Given the description of an element on the screen output the (x, y) to click on. 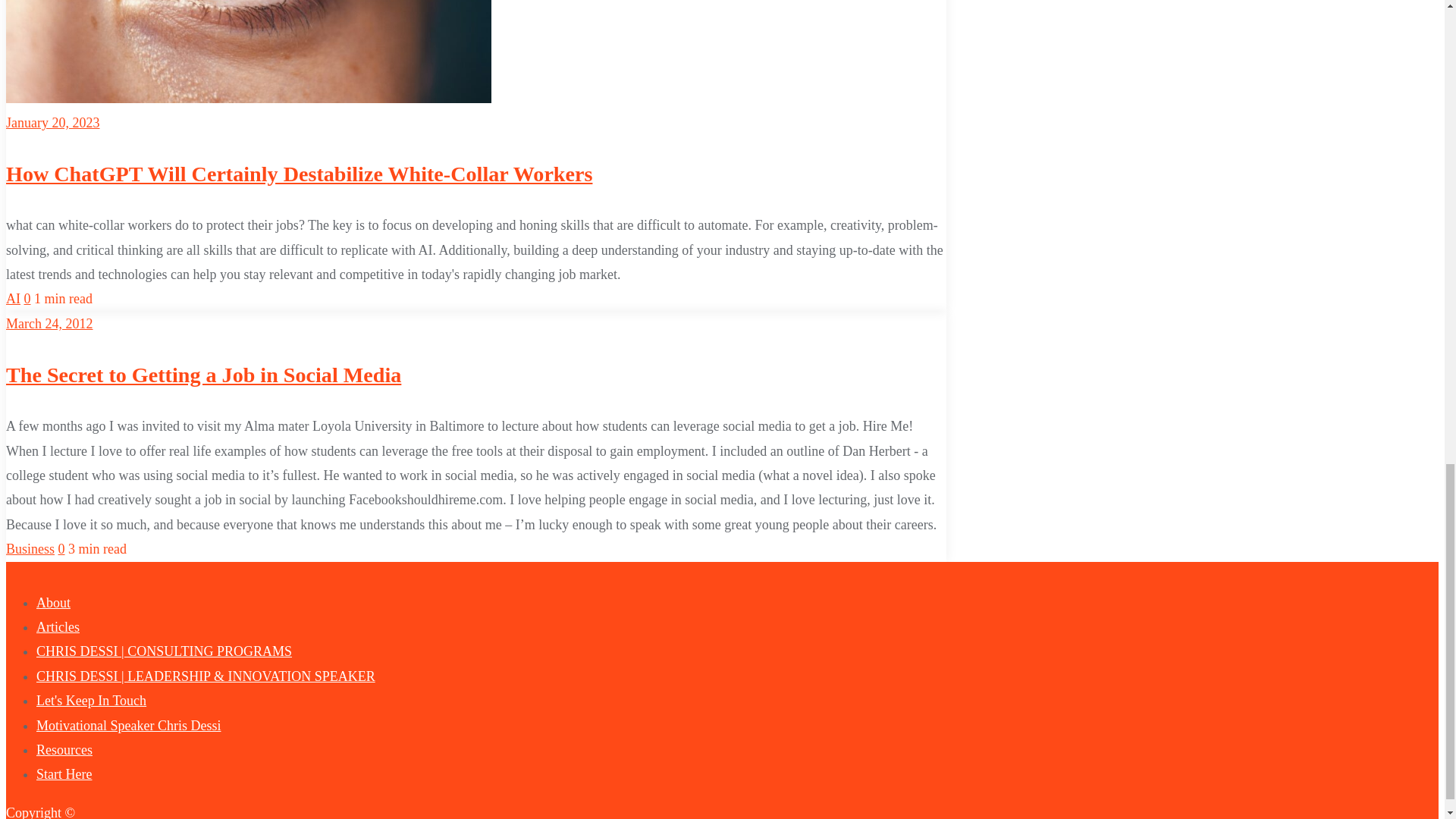
March 24, 2012 (49, 323)
How ChatGPT Will Certainly Destabilize White-Collar Workers (298, 173)
AI (12, 298)
Start Here (63, 774)
The Secret to Getting a Job in Social Media (203, 374)
Motivational Speaker Chris Dessi (128, 724)
Business (30, 548)
About (52, 602)
Articles (58, 626)
Let's Keep In Touch (91, 700)
